Given the description of an element on the screen output the (x, y) to click on. 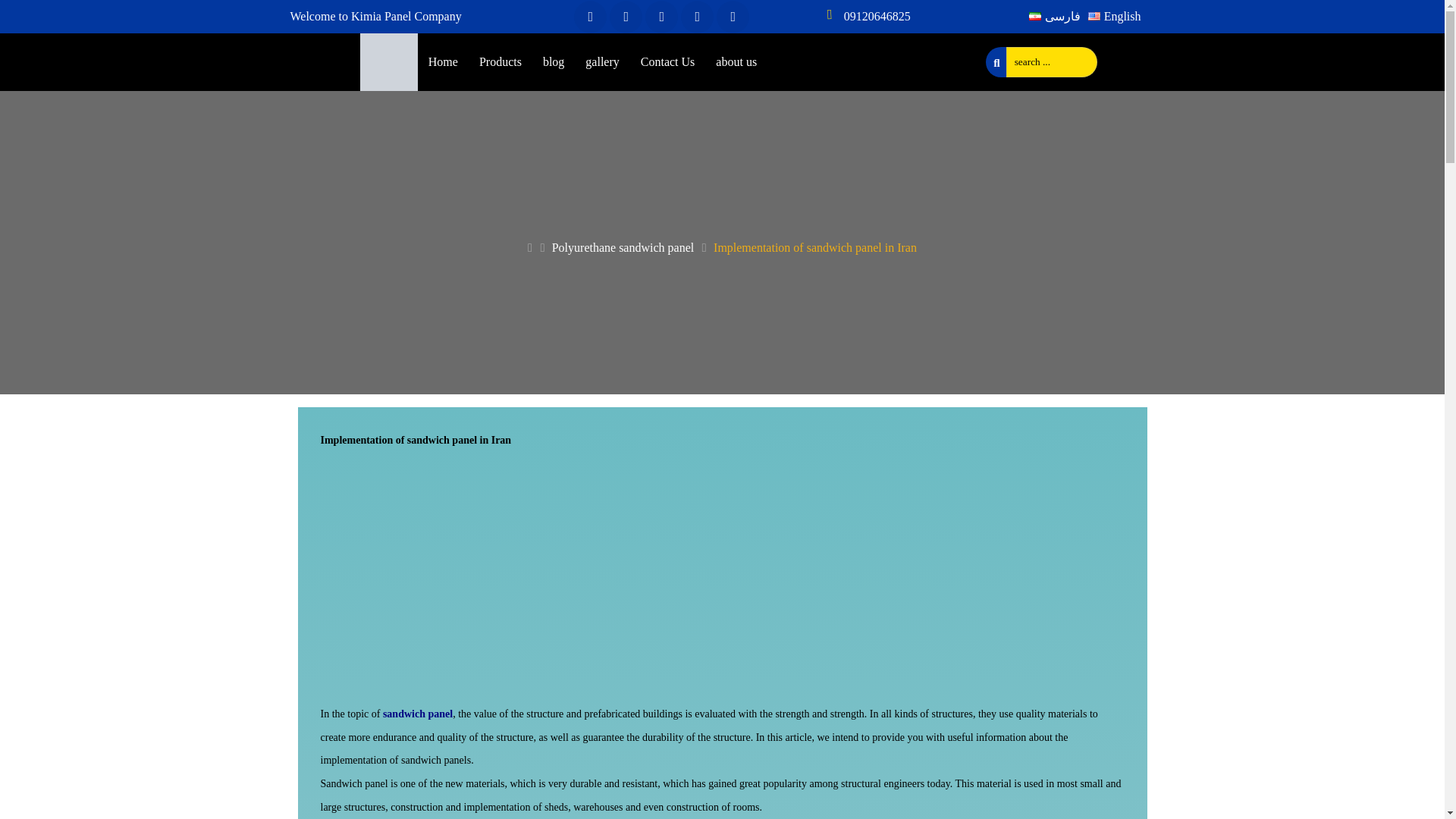
English (1114, 15)
Products (500, 61)
Home (443, 61)
Products (500, 61)
blog (553, 61)
09120646825 (877, 15)
Home (443, 61)
